Given the description of an element on the screen output the (x, y) to click on. 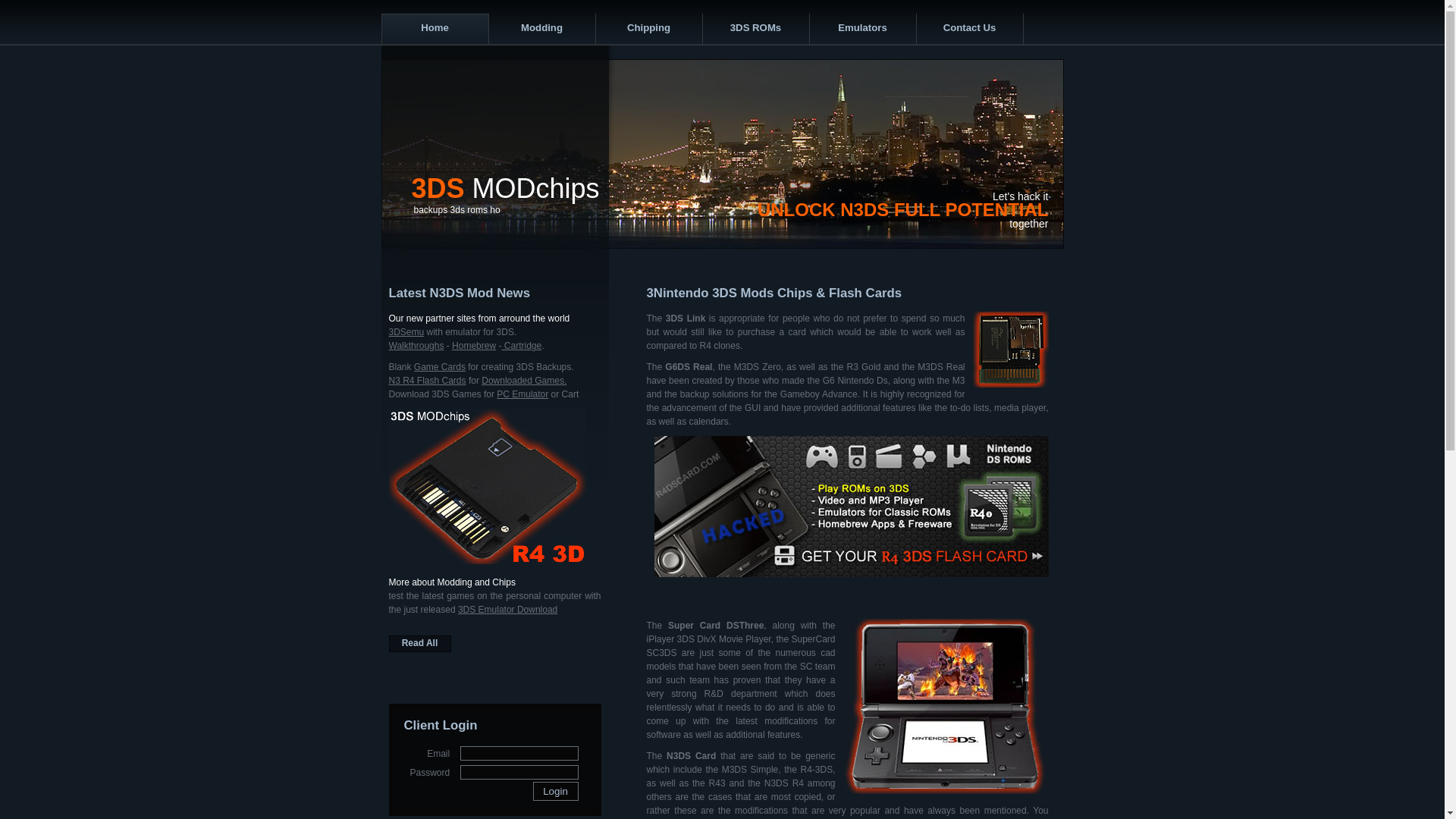
Read All Element type: text (419, 643)
Downloaded Games. Element type: text (523, 380)
3DS ROMs Element type: text (755, 28)
Walkthroughs Element type: text (415, 345)
3DS Emulator Download Element type: text (507, 609)
3DSemu Element type: text (405, 331)
Homebrew Element type: text (473, 345)
Contact Us Element type: text (969, 28)
Game Cards Element type: text (439, 366)
PC Emulator Element type: text (522, 394)
Login Element type: text (554, 790)
Emulators Element type: text (861, 28)
N3 R4 Flash Cards Element type: text (426, 380)
Chipping Element type: text (647, 28)
Modding Element type: text (541, 28)
Home Element type: text (433, 28)
Cartridge Element type: text (521, 345)
